Given the description of an element on the screen output the (x, y) to click on. 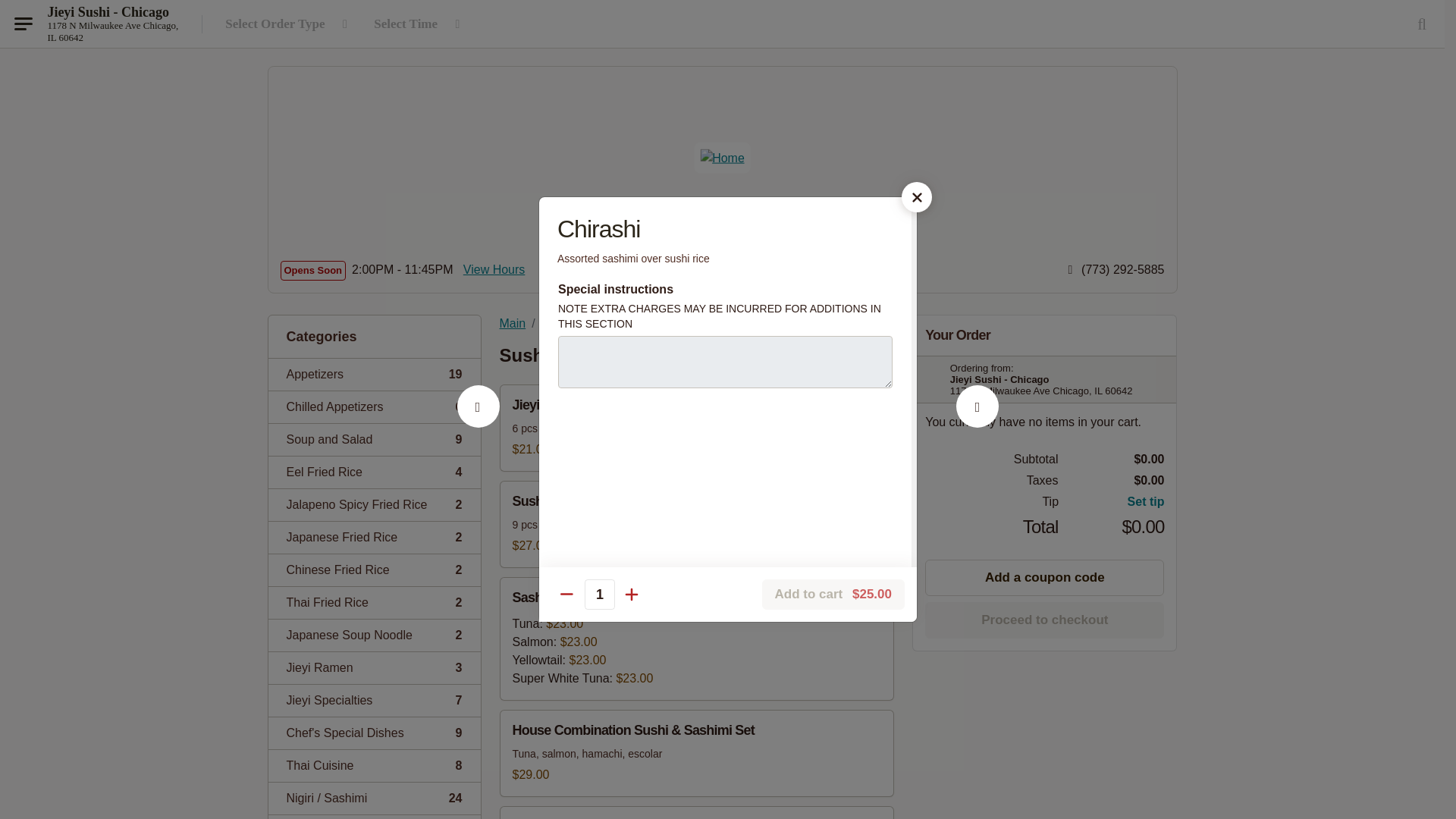
Dragon Boat Sushi Set (373, 699)
1 (373, 765)
Add tip (977, 422)
View Hours (373, 536)
